Given the description of an element on the screen output the (x, y) to click on. 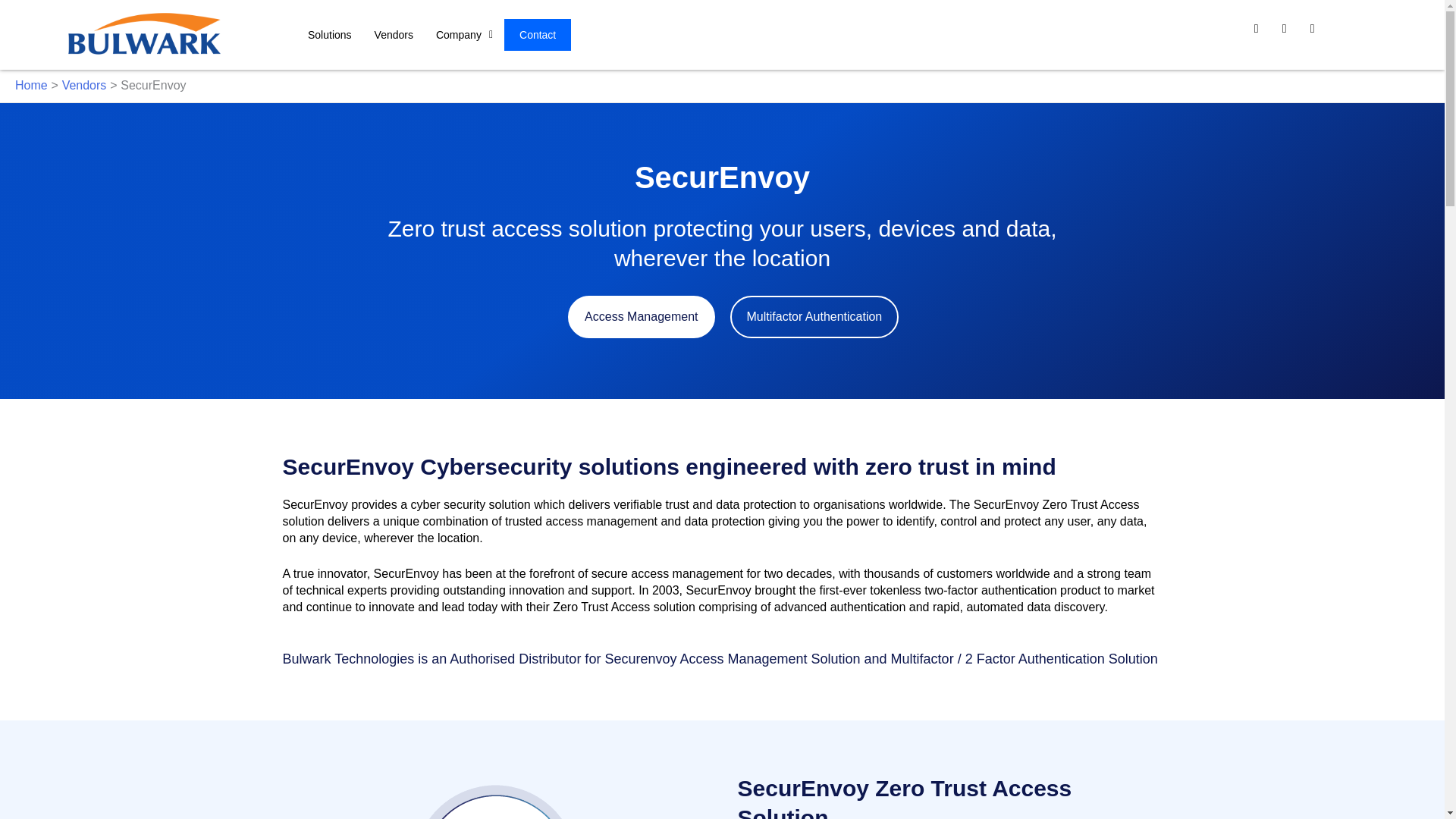
Access Management (640, 316)
Vendors (393, 34)
Icon-twitter (1290, 34)
Home (31, 84)
Contact (536, 34)
Icon-youtube-v (1318, 34)
Company (464, 34)
Vendors (84, 84)
Solutions (329, 34)
Linkedin-in (1262, 34)
Multifactor Authentication (813, 316)
